Given the description of an element on the screen output the (x, y) to click on. 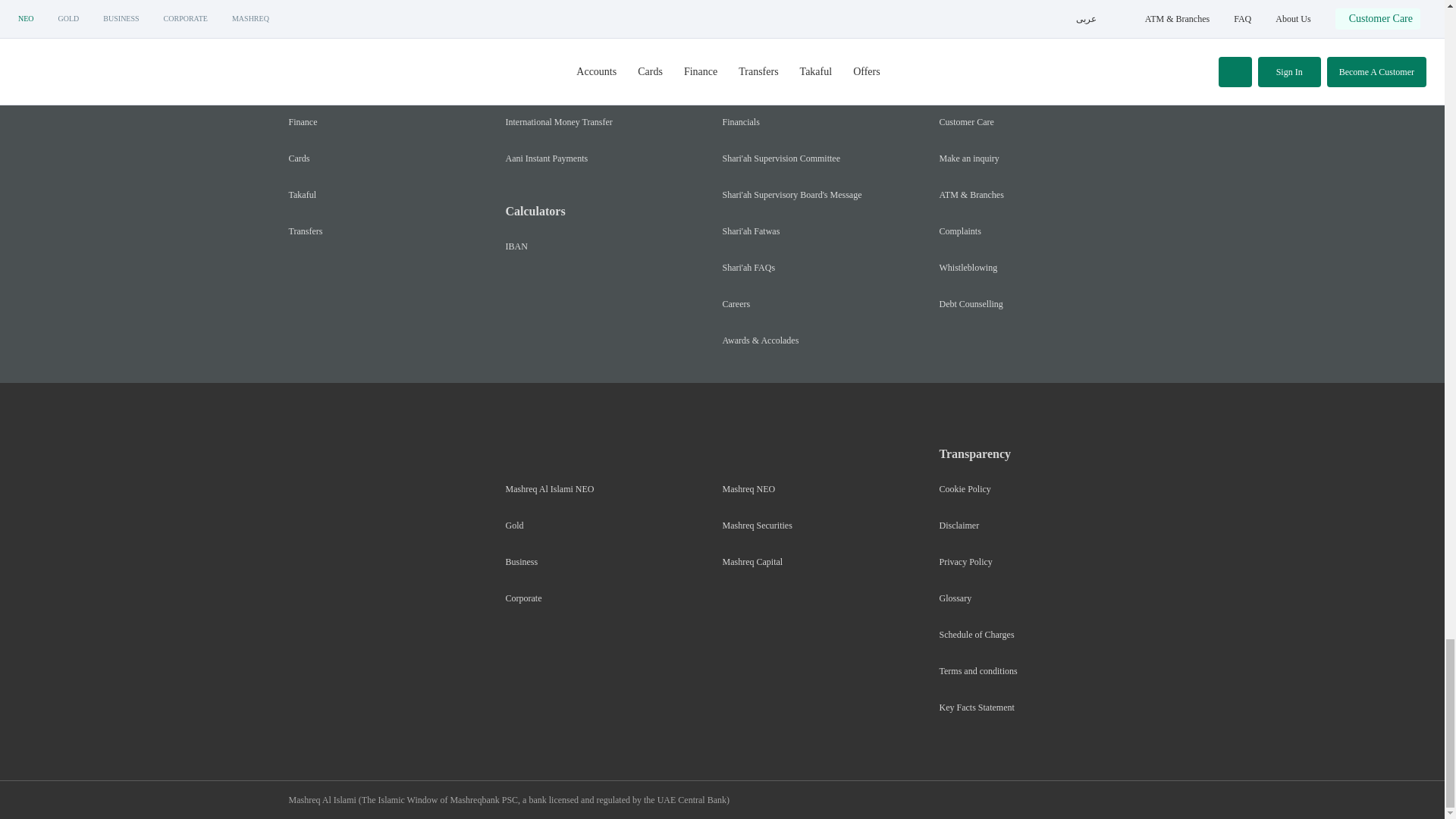
Finance (302, 122)
Accounts (304, 85)
Cards (298, 158)
